Given the description of an element on the screen output the (x, y) to click on. 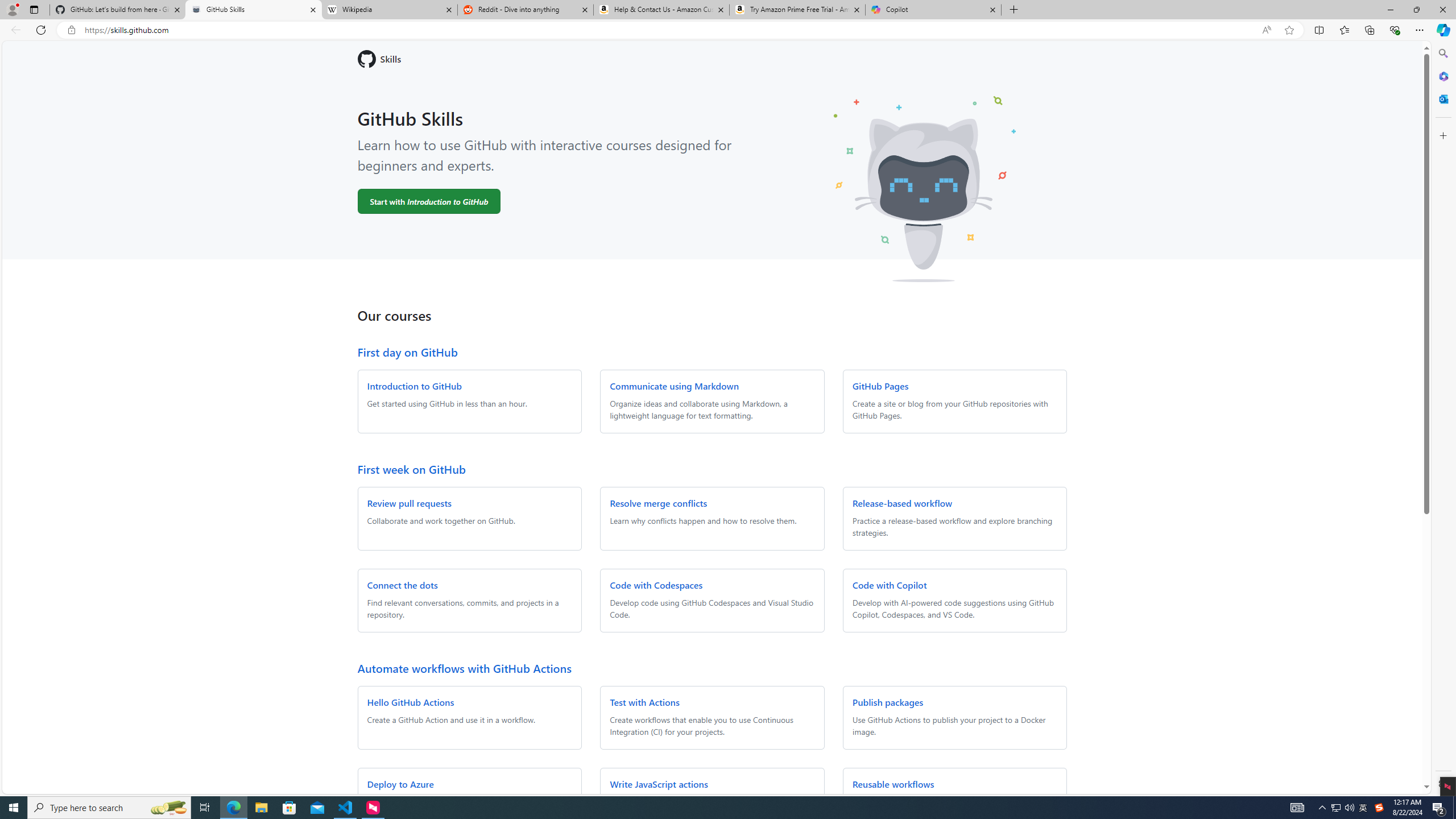
Try Amazon Prime Free Trial - Amazon Customer Service (797, 9)
GitHub Skills (253, 9)
Copilot (933, 9)
Deploy to Azure (399, 784)
Release-based workflow (901, 503)
First day on GitHub (406, 351)
